Given the description of an element on the screen output the (x, y) to click on. 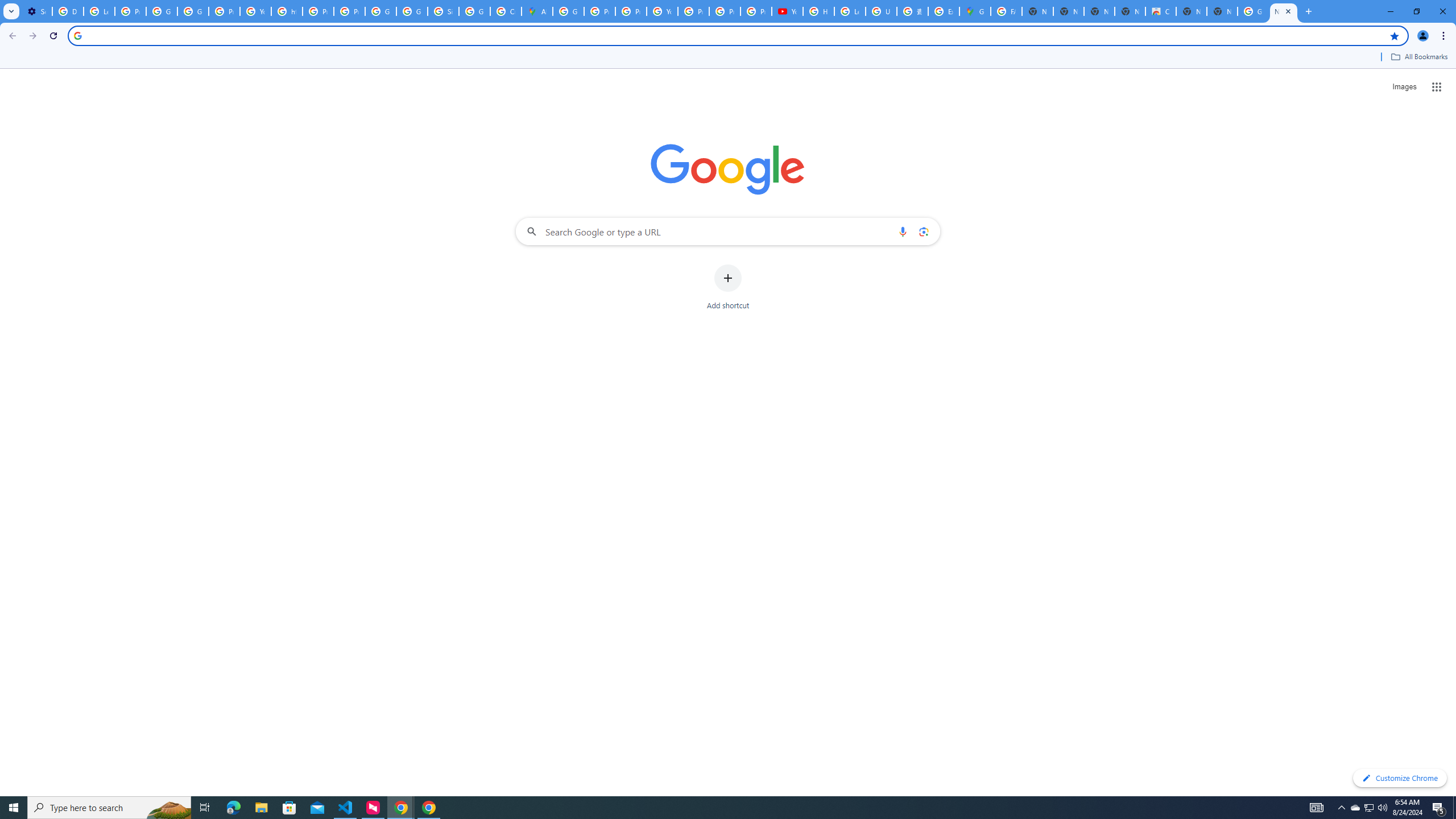
Privacy Checkup (756, 11)
